Given the description of an element on the screen output the (x, y) to click on. 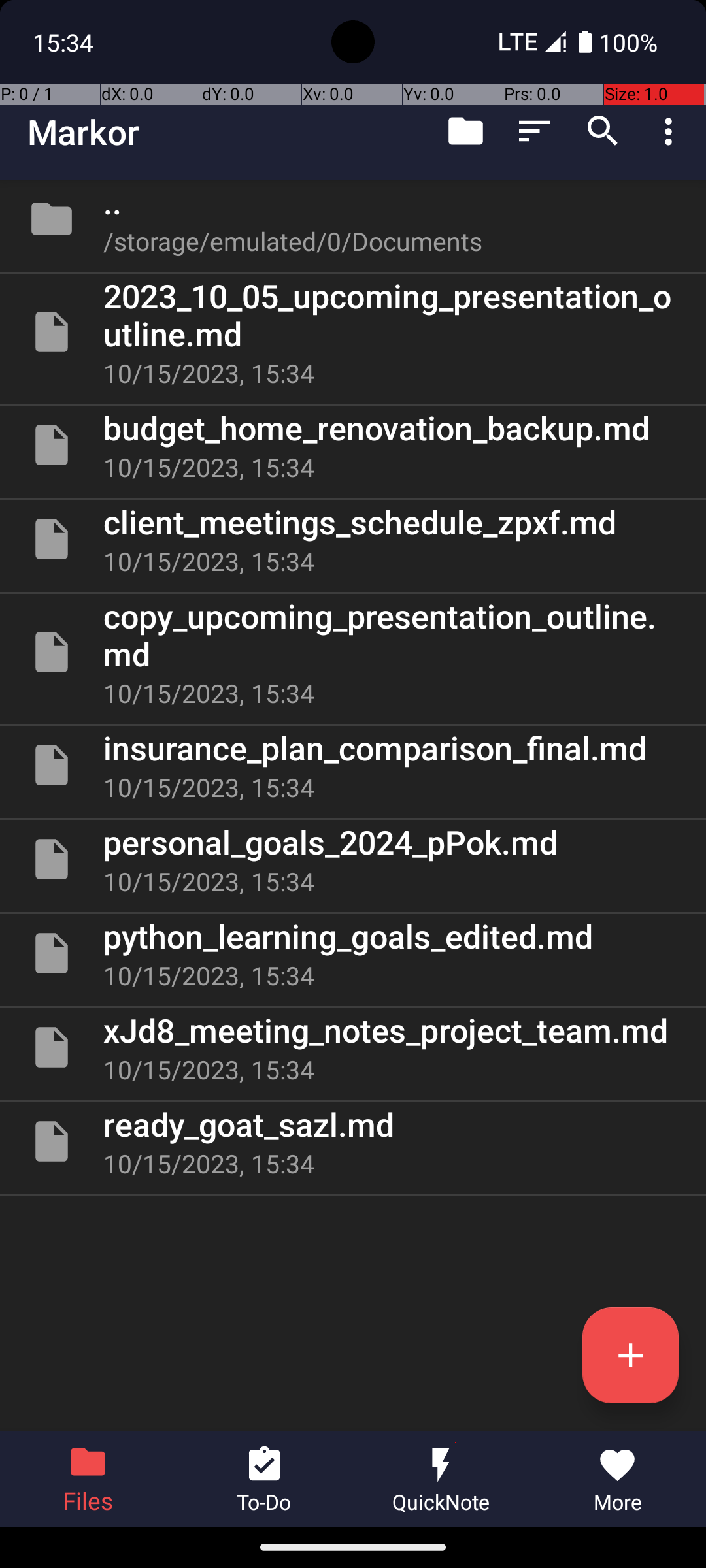
File 2023_10_05_upcoming_presentation_outline.md  Element type: android.widget.LinearLayout (353, 331)
File budget_home_renovation_backup.md  Element type: android.widget.LinearLayout (353, 444)
File client_meetings_schedule_zpxf.md  Element type: android.widget.LinearLayout (353, 538)
File copy_upcoming_presentation_outline.md  Element type: android.widget.LinearLayout (353, 651)
File insurance_plan_comparison_final.md  Element type: android.widget.LinearLayout (353, 764)
File personal_goals_2024_pPok.md  Element type: android.widget.LinearLayout (353, 858)
File python_learning_goals_edited.md  Element type: android.widget.LinearLayout (353, 953)
File xJd8_meeting_notes_project_team.md  Element type: android.widget.LinearLayout (353, 1047)
File ready_goat_sazl.md  Element type: android.widget.LinearLayout (353, 1141)
